Given the description of an element on the screen output the (x, y) to click on. 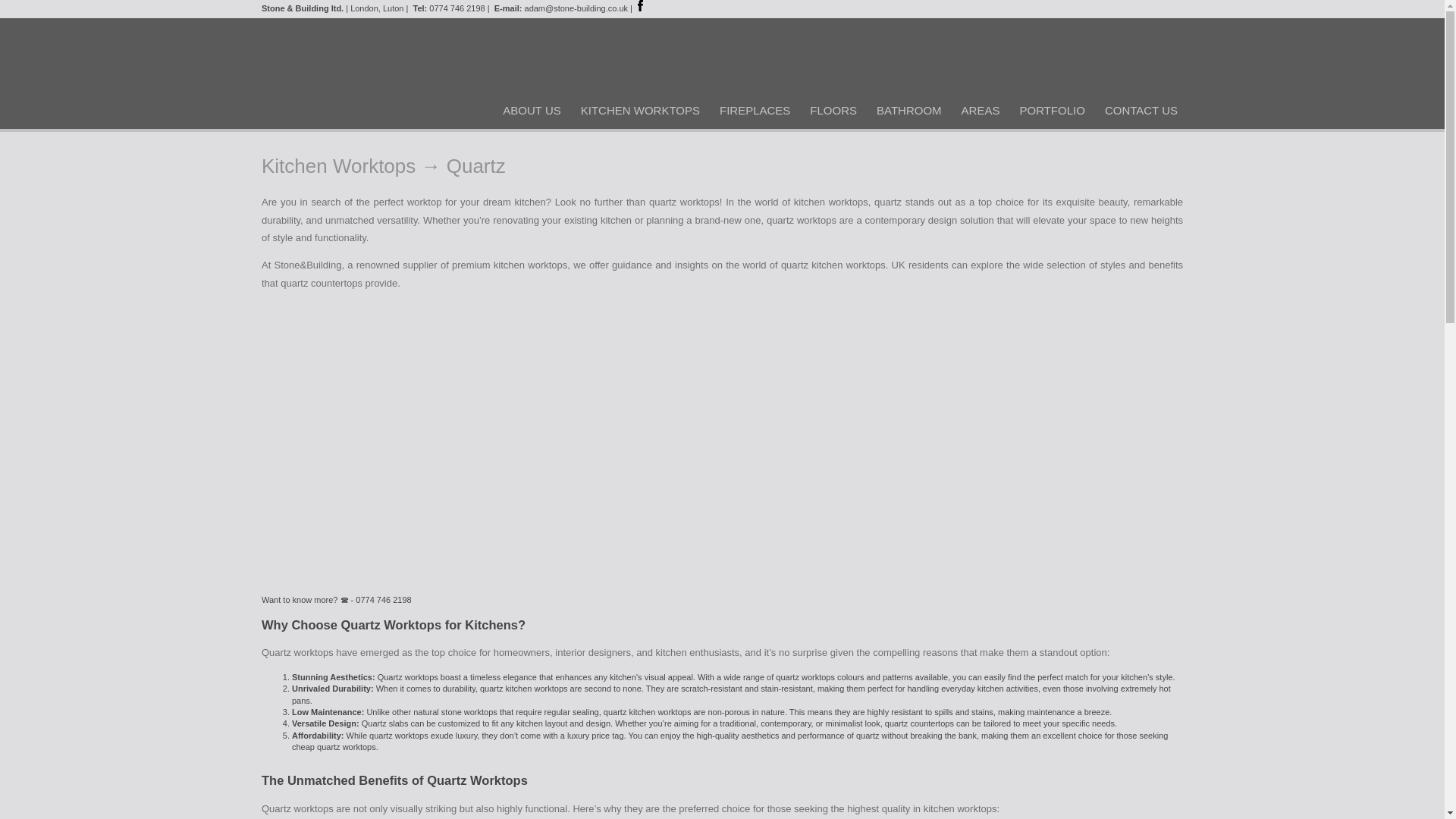
KITCHEN WORKTOPS (640, 109)
FIREPLACES (754, 109)
FLOORS (833, 109)
ABOUT US (531, 109)
0774 746 2198 (456, 8)
AREAS (980, 109)
BATHROOM (909, 109)
